Given the description of an element on the screen output the (x, y) to click on. 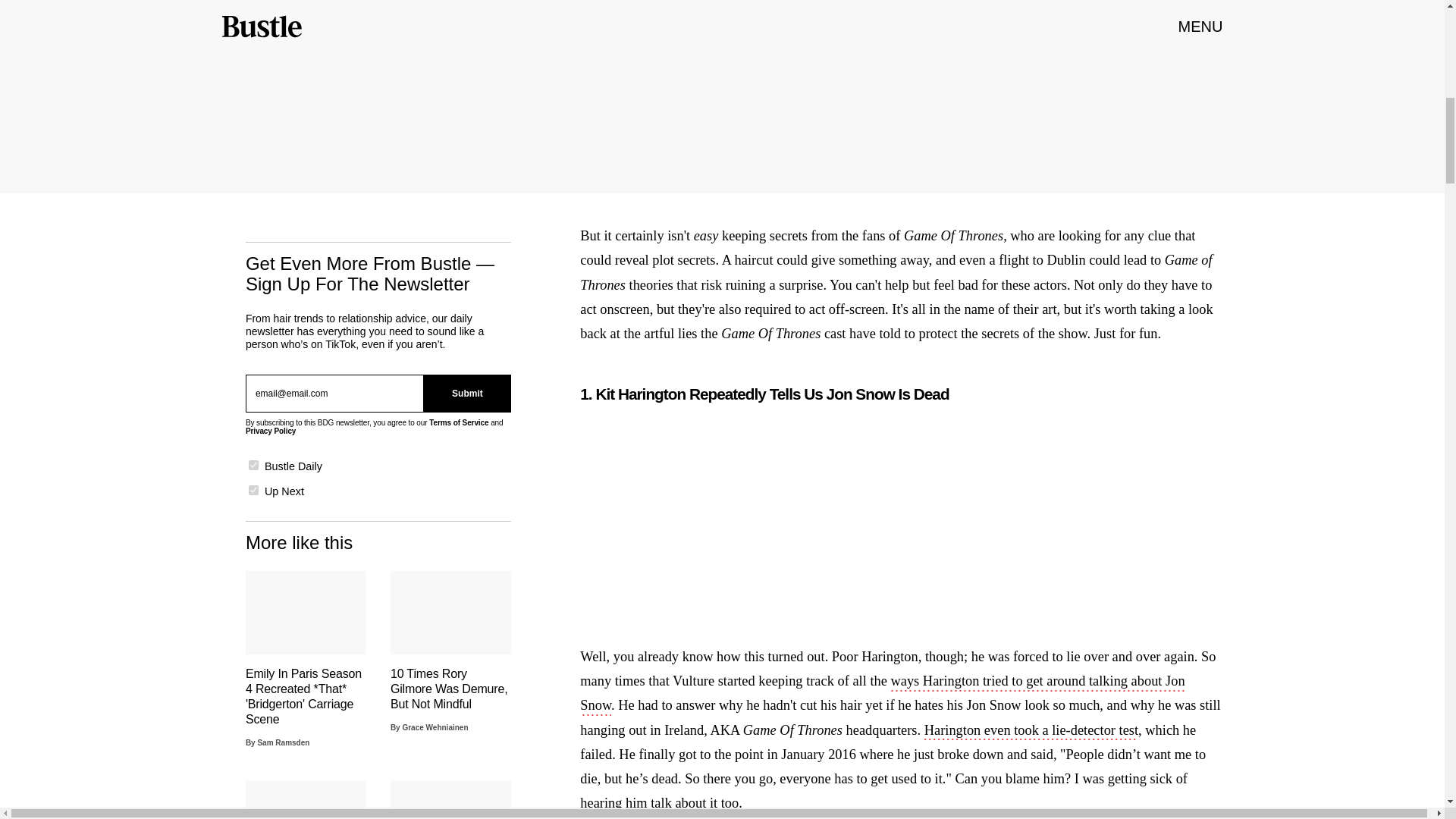
ways Harington tried to get around talking about Jon Snow (882, 694)
Terms of Service (458, 422)
Submit (467, 393)
Privacy Policy (270, 430)
The 'Tell Me Lies' Season 1 Recap You Need Before Season 2 (450, 799)
Harington even took a lie-detector test (1031, 731)
